Given the description of an element on the screen output the (x, y) to click on. 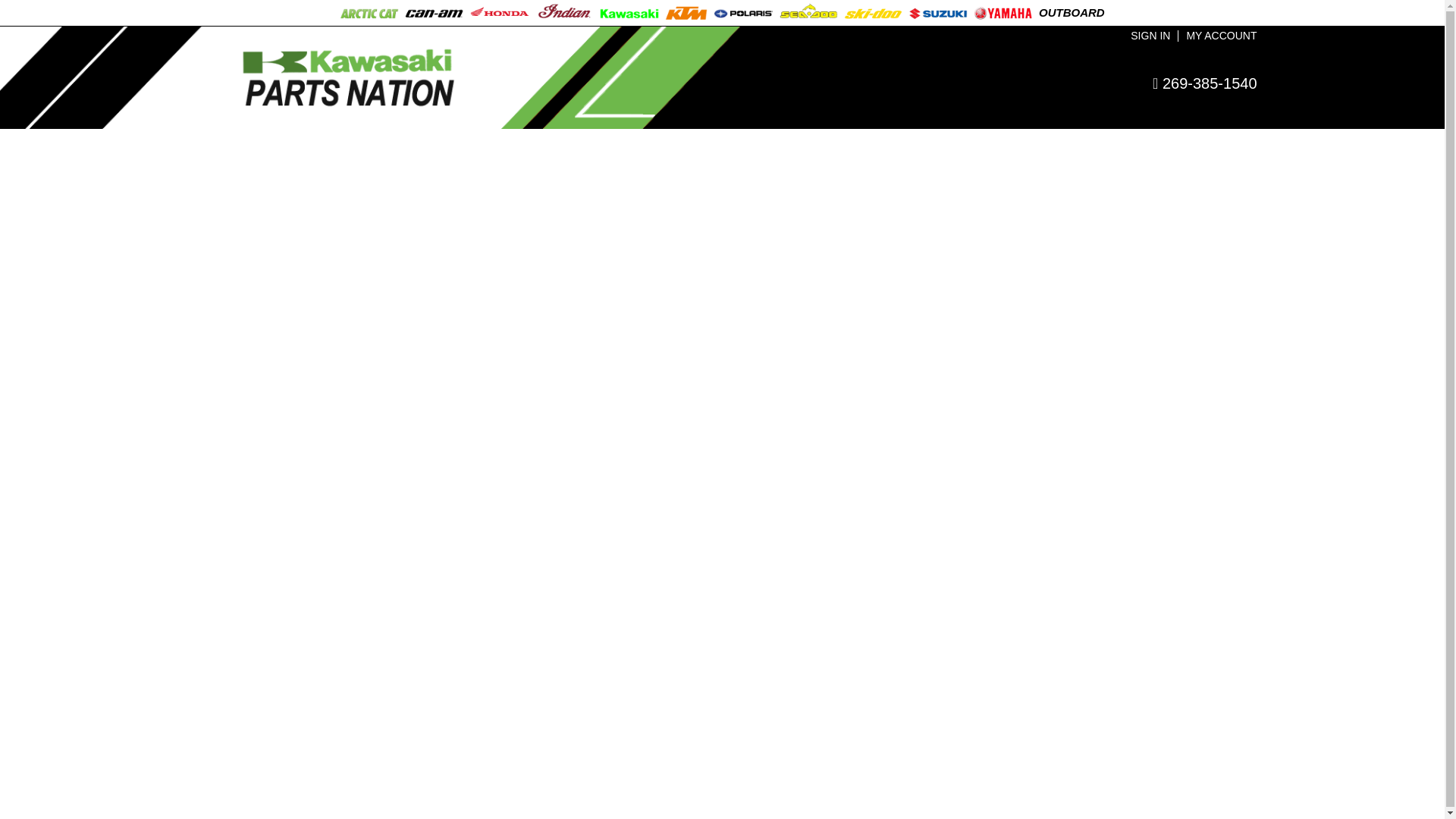
SIGN IN (1150, 35)
OUTBOARD (1071, 12)
MY ACCOUNT (1221, 35)
Sign In (1150, 35)
